Given the description of an element on the screen output the (x, y) to click on. 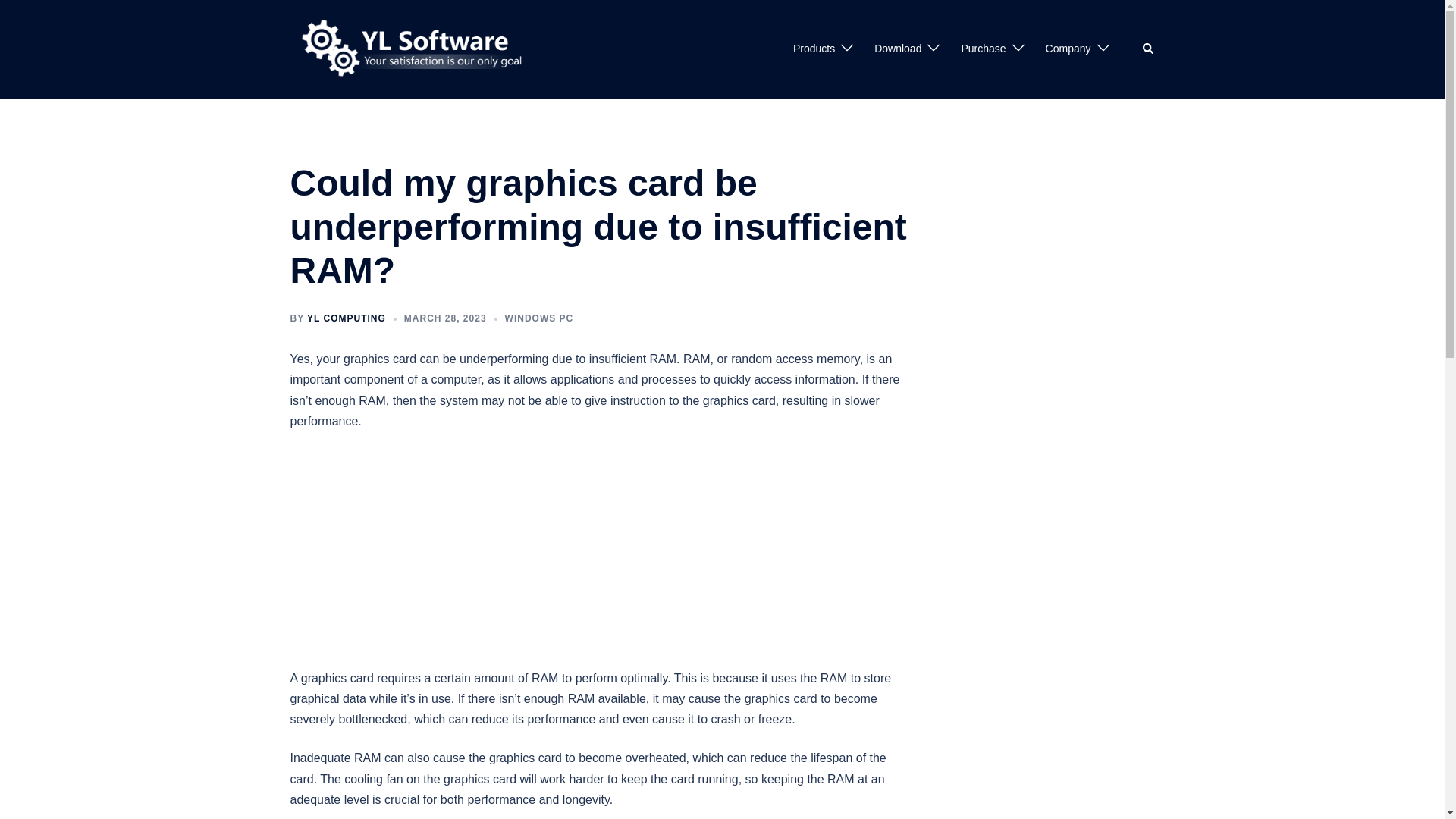
YL Computing (416, 47)
Products (813, 49)
Advertisement (599, 555)
